Given the description of an element on the screen output the (x, y) to click on. 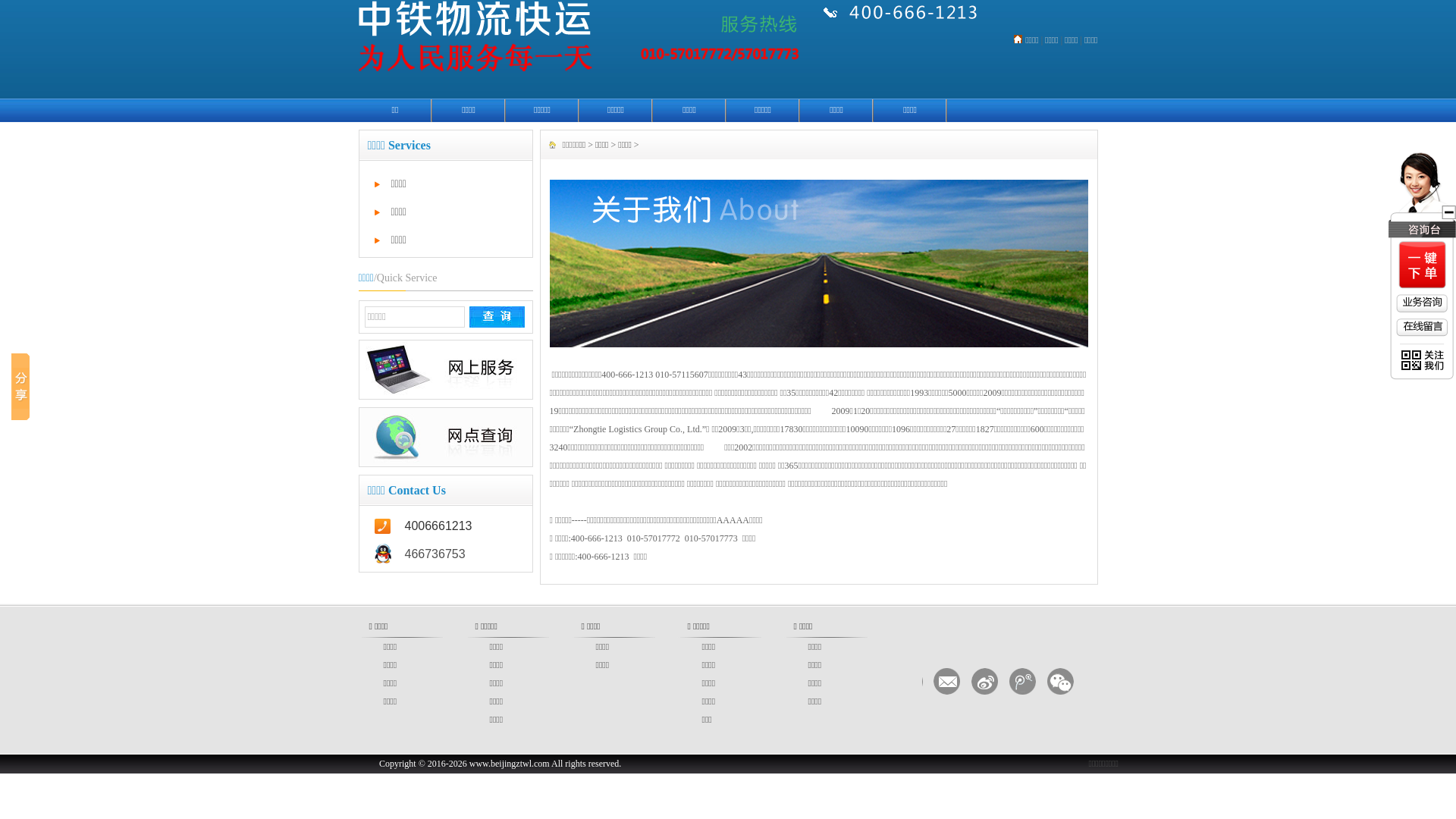
466736753 Element type: text (445, 553)
